Given the description of an element on the screen output the (x, y) to click on. 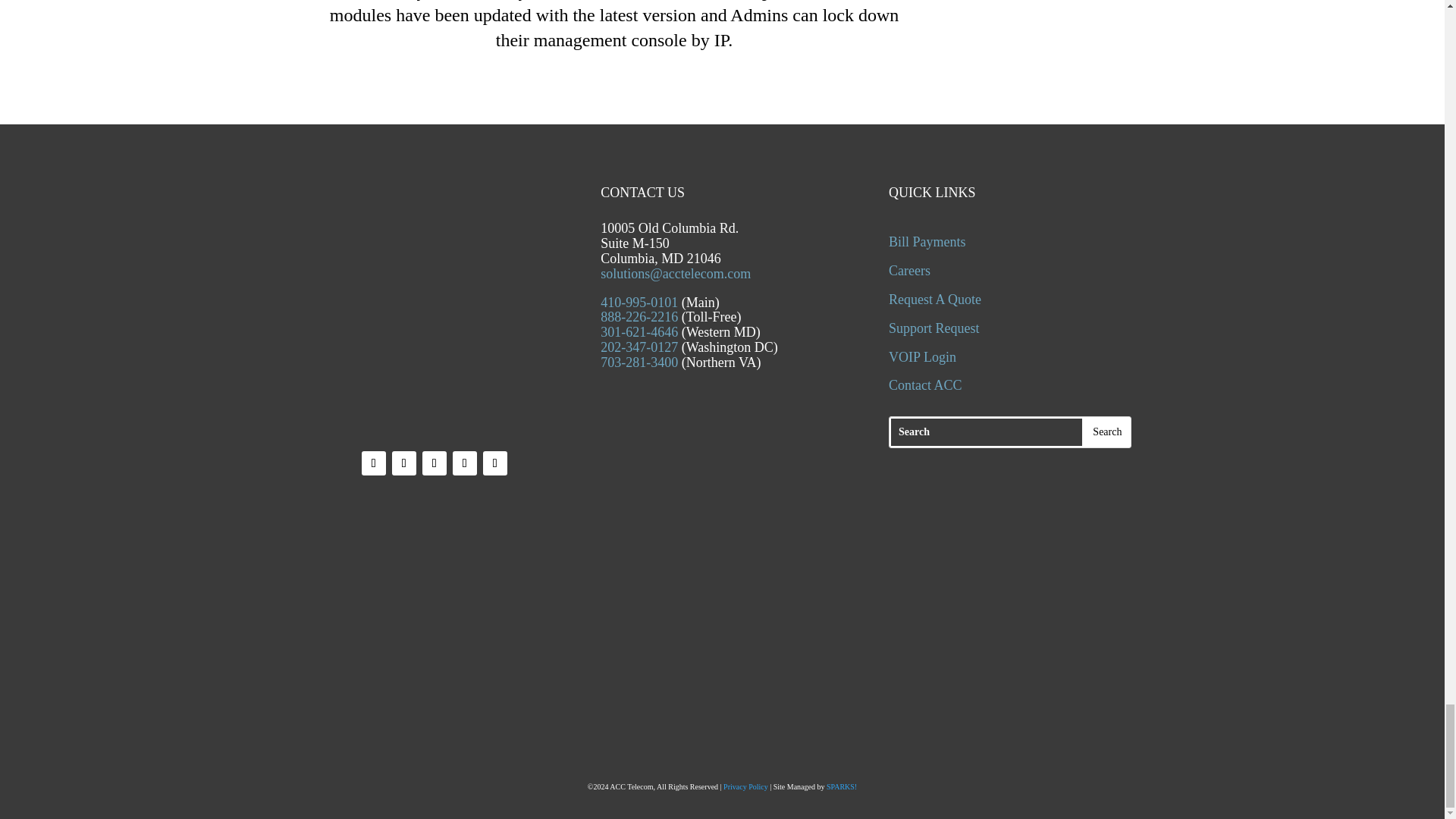
Follow on RSS (494, 463)
Follow on Youtube (464, 463)
Follow on LinkedIn (434, 463)
Search (1107, 434)
Follow on Facebook (373, 463)
Follow on X (403, 463)
Search (1107, 434)
